Given the description of an element on the screen output the (x, y) to click on. 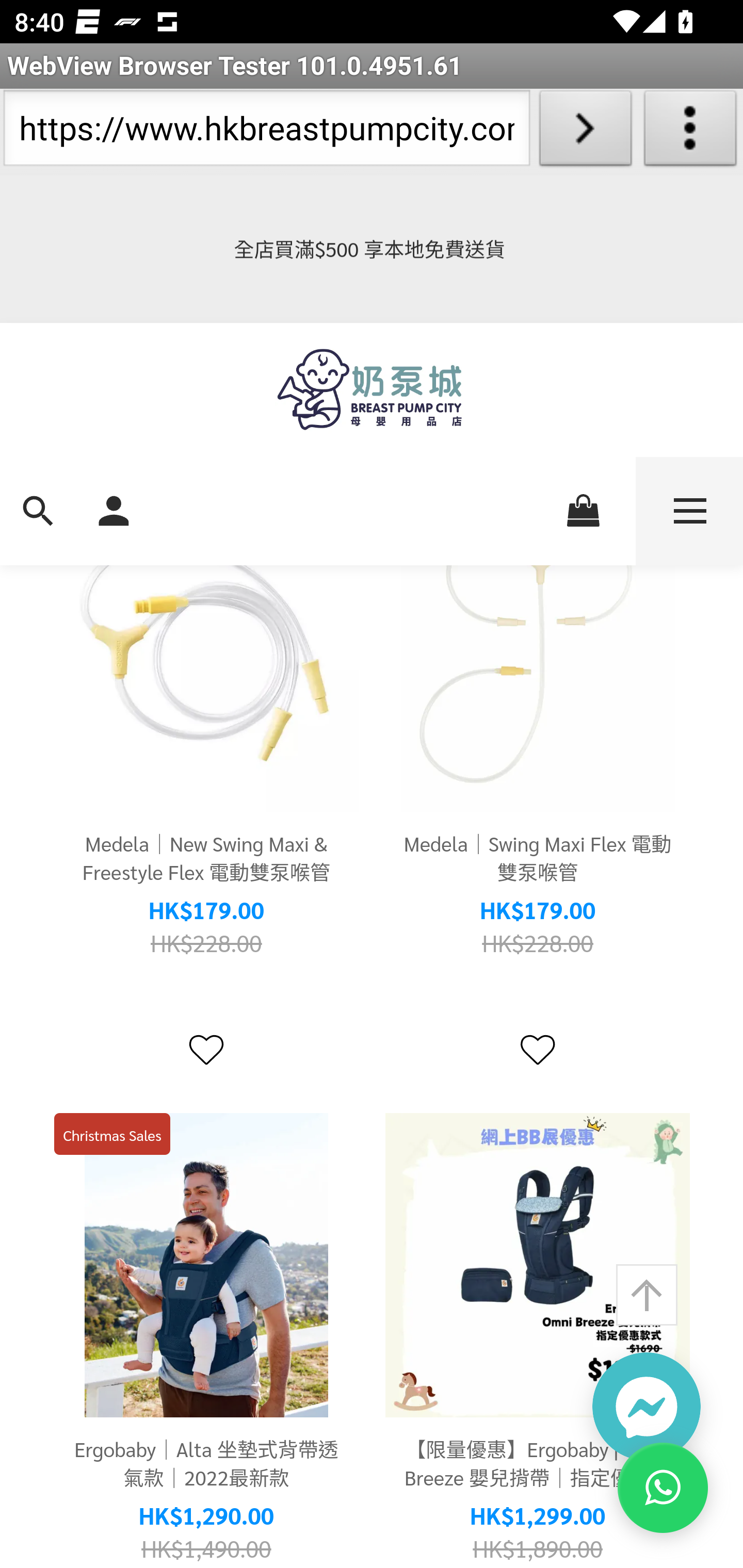
https://www.hkbreastpumpcity.com/ (266, 132)
Load URL (585, 132)
About WebView (690, 132)
全店買滿$500 享本地免費送貨  (371, 248)
594x (371, 390)
sign_in (113, 508)
Medela｜New Swing Maxi &amp; Freestyle Flex 電動雙泵喉管 (206, 660)
Medela｜Swing Maxi Flex 電動雙泵喉管 (537, 660)
Medela｜New Swing Maxi & Freestyle Flex 電動雙泵喉管 (206, 858)
Medela｜Swing Maxi Flex 電動雙泵喉管 (537, 858)
HK$179.00 (206, 910)
HK$179.00 (537, 910)
HK$228.00 (206, 944)
HK$228.00 (537, 944)
 (206, 1050)
 (537, 1050)
Christmas Sales Ergobaby｜Alta 坐墊式背帶透氣款｜2022最新款 (206, 1266)
Christmas Sales (112, 1135)
【限量優惠】Ergobaby | Omni Breeze 嬰兒揹帶｜指定優惠款式 (537, 1266)
Ergobaby｜Alta 坐墊式背帶透氣款｜2022最新款 (206, 1464)
【限量優惠】Ergobaby | Omni Breeze 嬰兒揹帶｜指定優惠款式 (537, 1464)
HK$1,290.00 (206, 1517)
HK$1,299.00 (537, 1517)
HK$1,490.00 (206, 1549)
HK$1,890.00 (537, 1549)
